Given the description of an element on the screen output the (x, y) to click on. 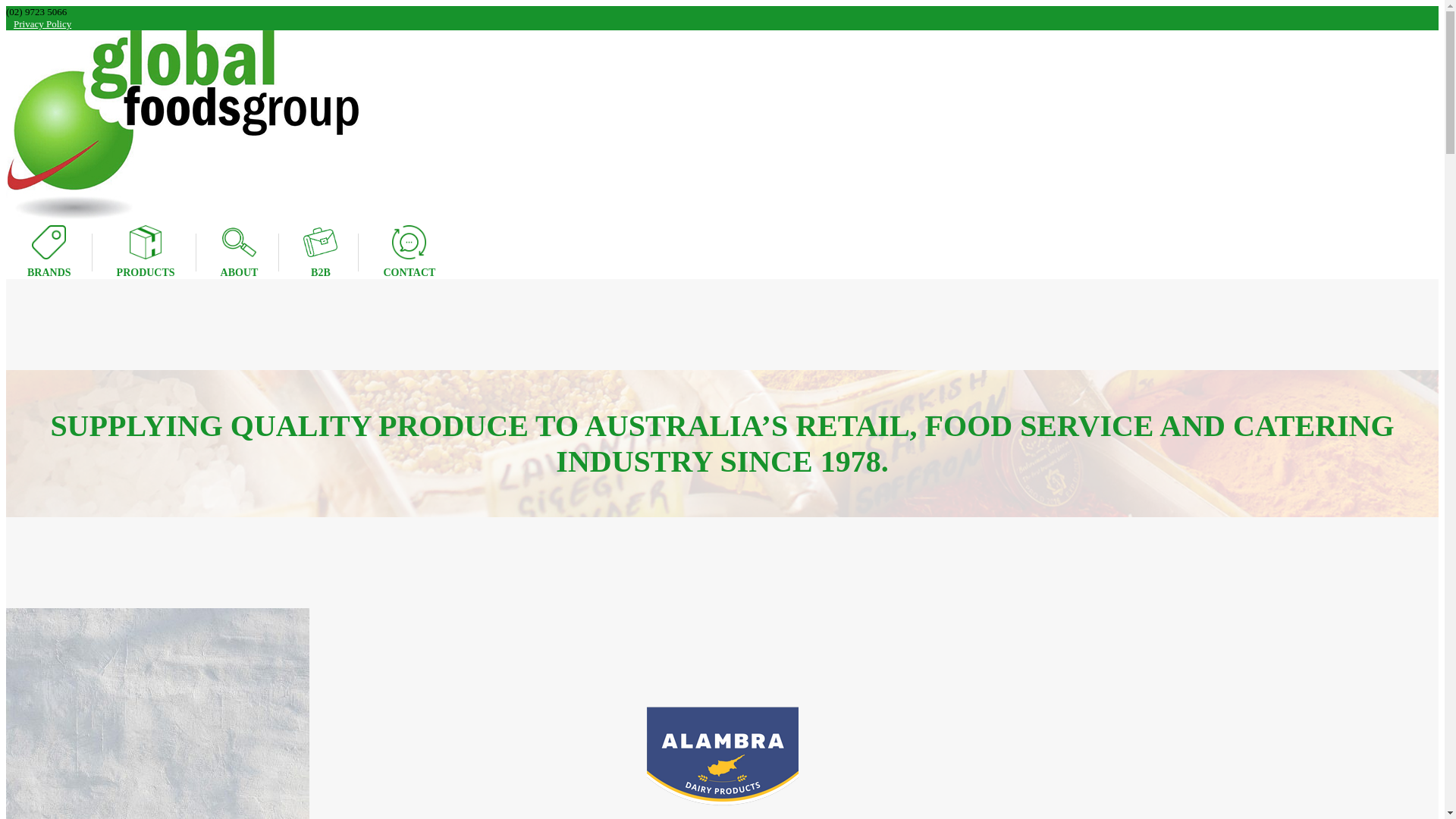
BRANDS Element type: text (48, 252)
B2B Element type: text (320, 252)
PRODUCTS Element type: text (145, 252)
Skip to content Element type: text (5, 5)
Privacy Policy Element type: text (42, 23)
ABOUT Element type: text (239, 252)
CONTACT Element type: text (408, 252)
